Given the description of an element on the screen output the (x, y) to click on. 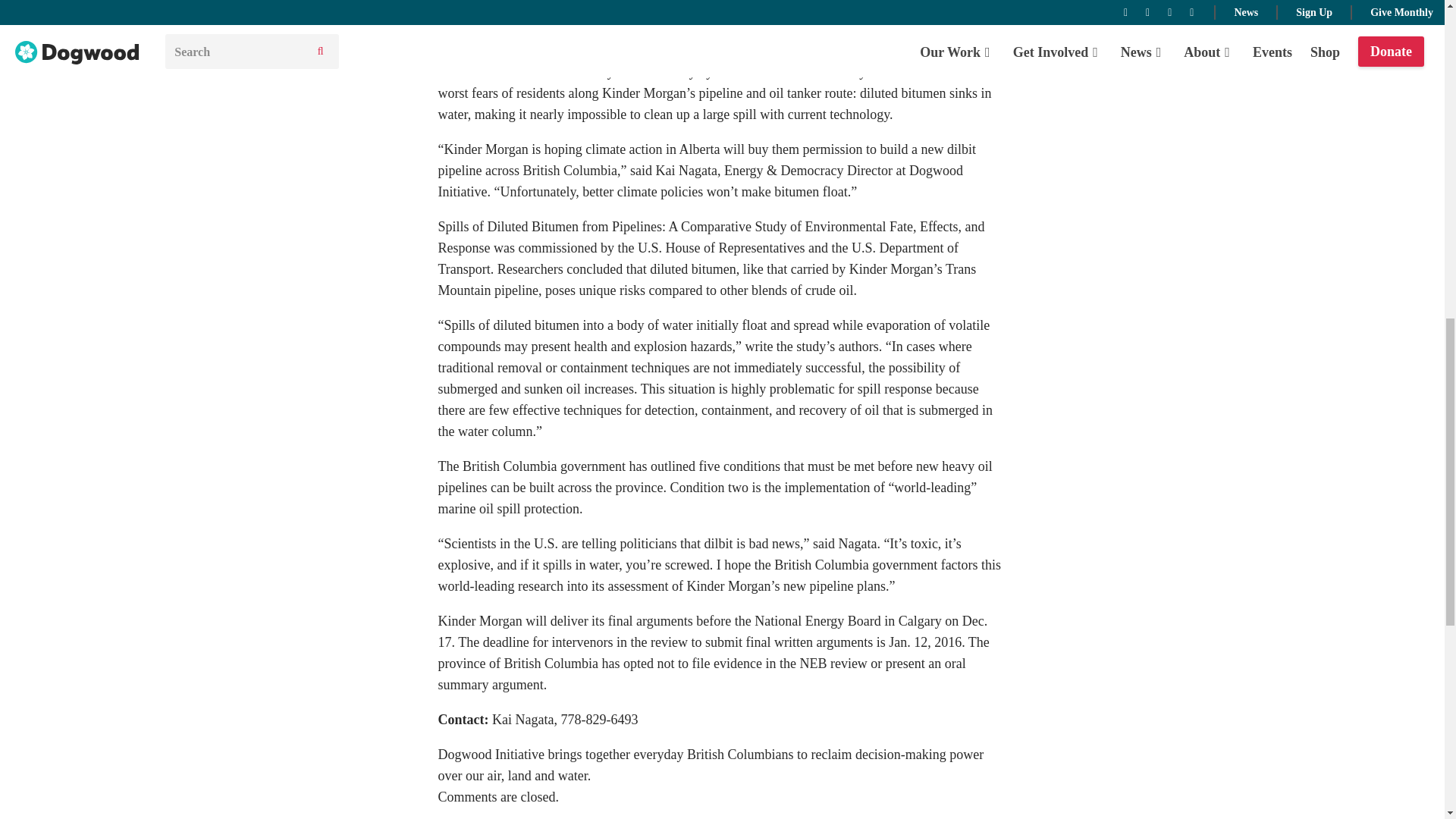
X (481, 32)
Facebook (452, 32)
